Given the description of an element on the screen output the (x, y) to click on. 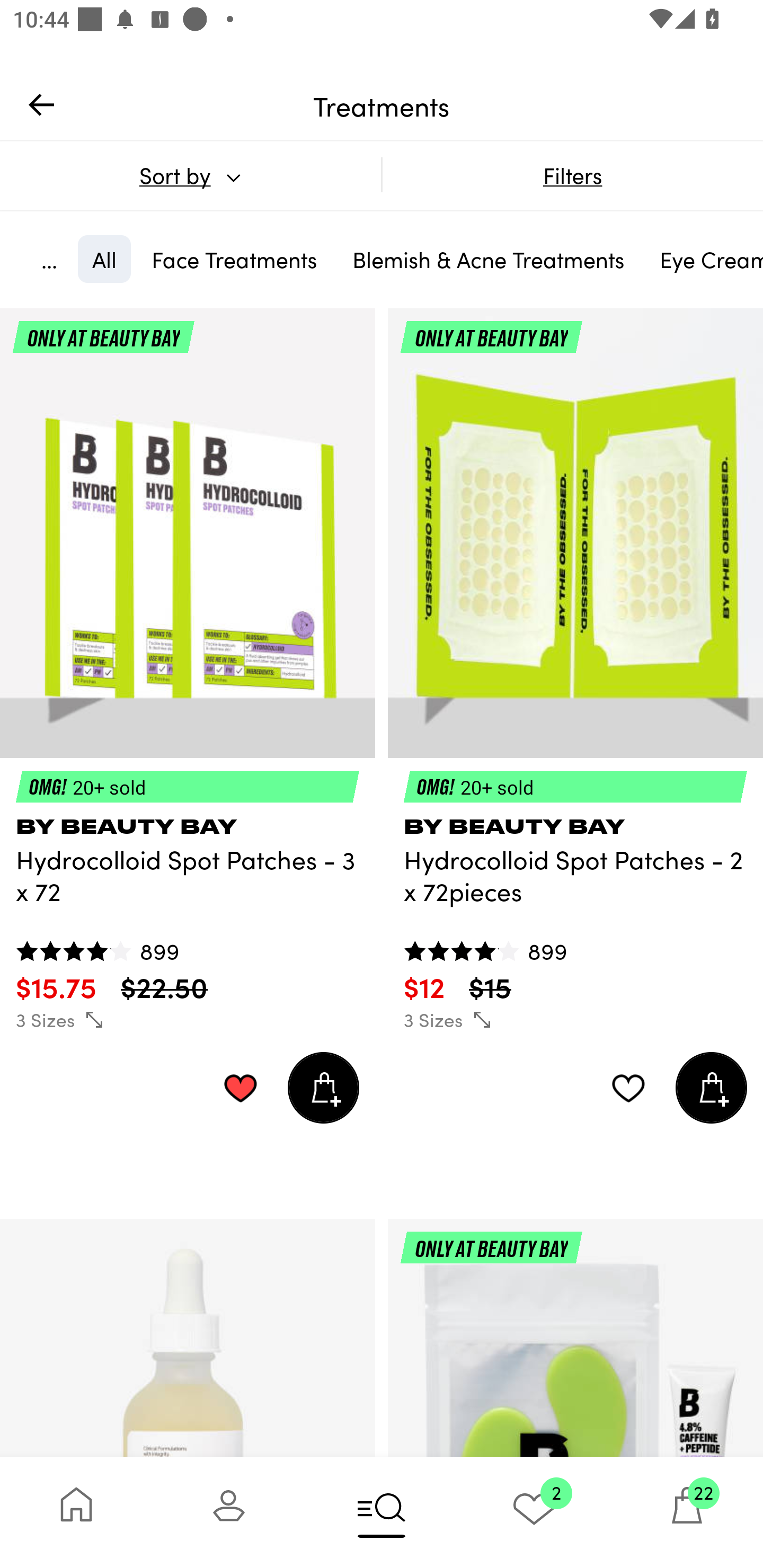
Sort by (190, 174)
Filters (572, 174)
... (48, 258)
All (104, 258)
Face Treatments (234, 258)
Blemish & Acne Treatments (488, 258)
Eye Creams & Treatments (704, 258)
2 (533, 1512)
22 (686, 1512)
